Given the description of an element on the screen output the (x, y) to click on. 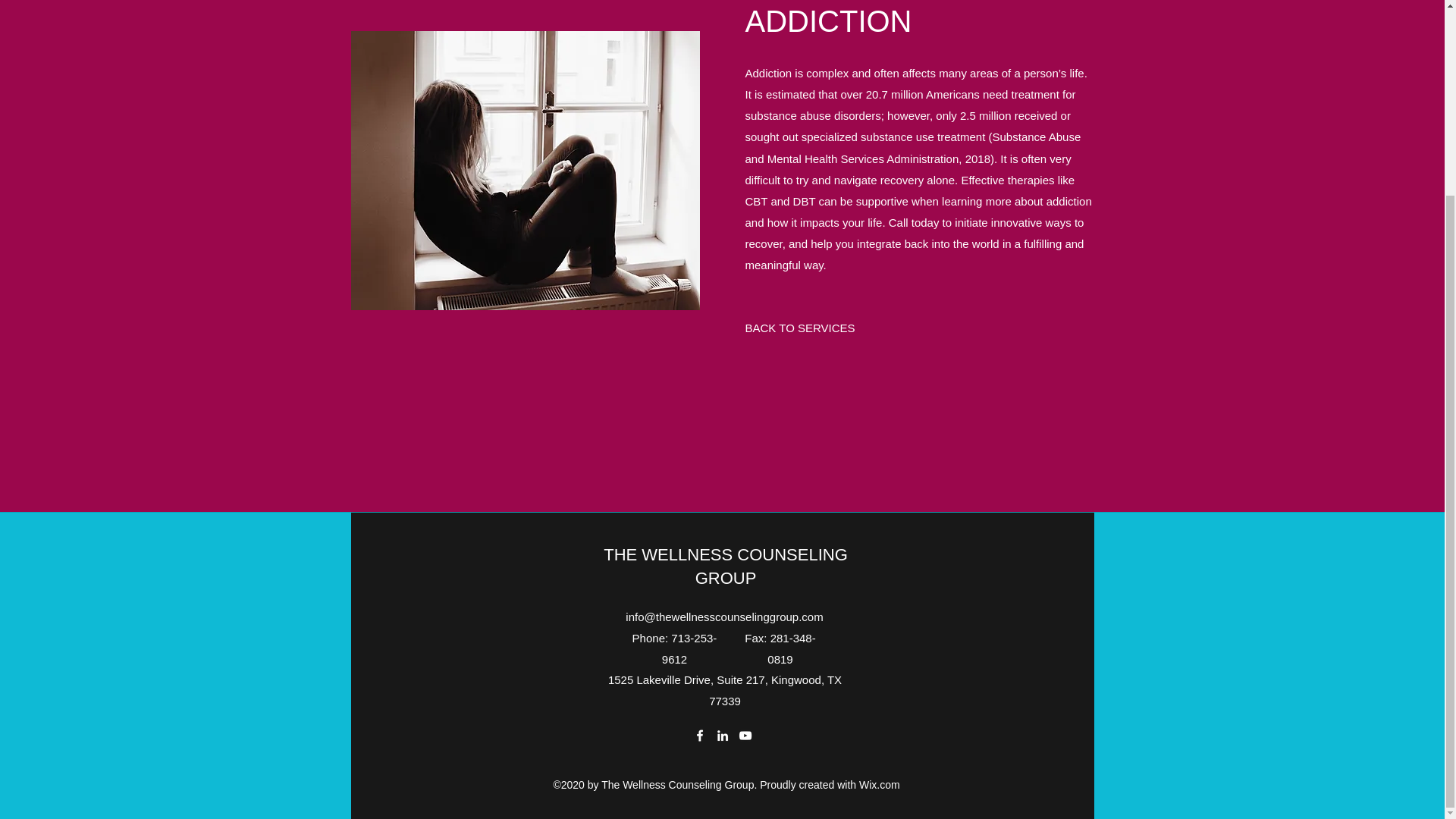
BACK TO SERVICES (799, 327)
THE WELLNESS COUNSELING GROUP (725, 566)
